Given the description of an element on the screen output the (x, y) to click on. 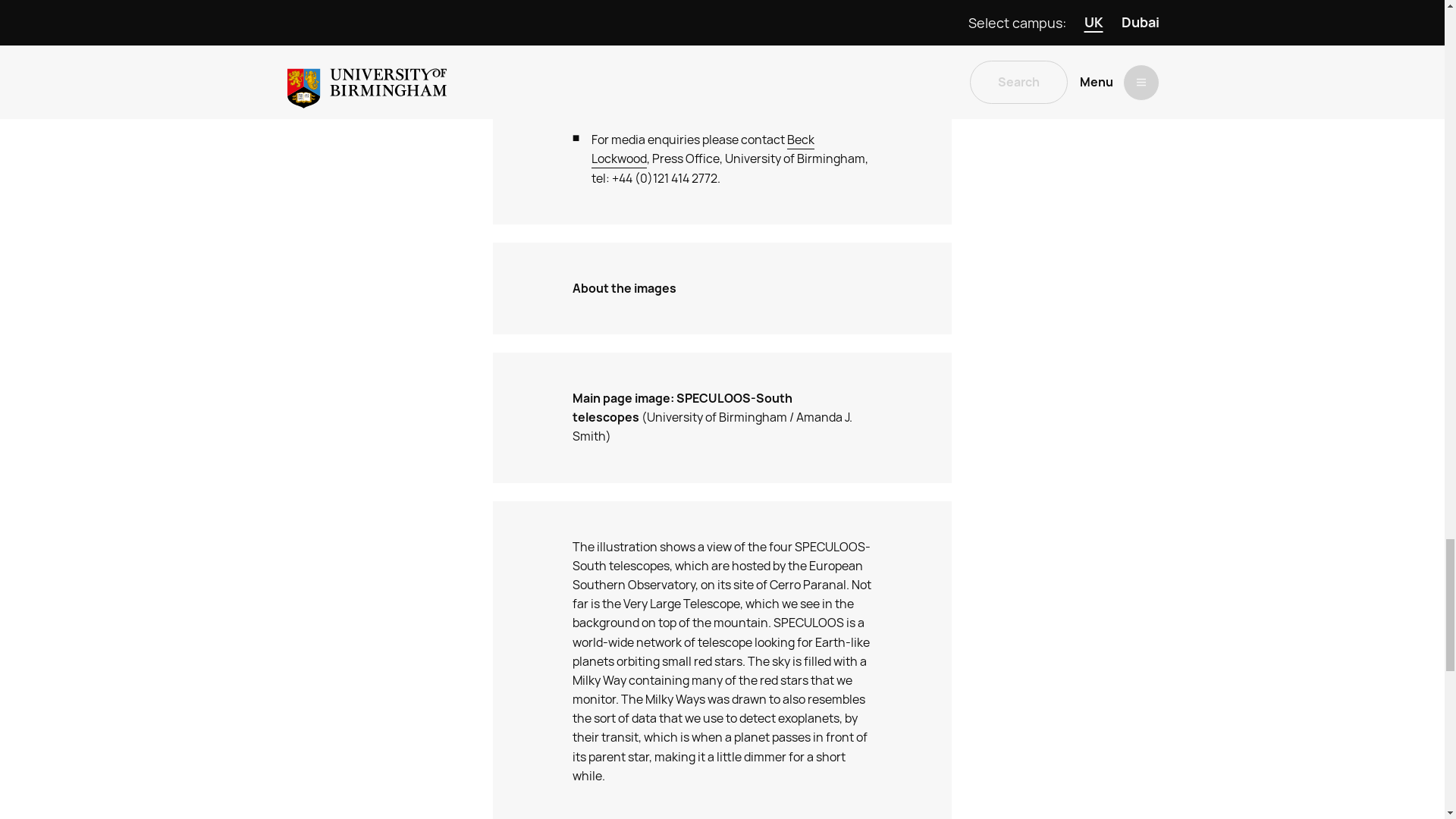
Beck Lockwood (702, 149)
